Given the description of an element on the screen output the (x, y) to click on. 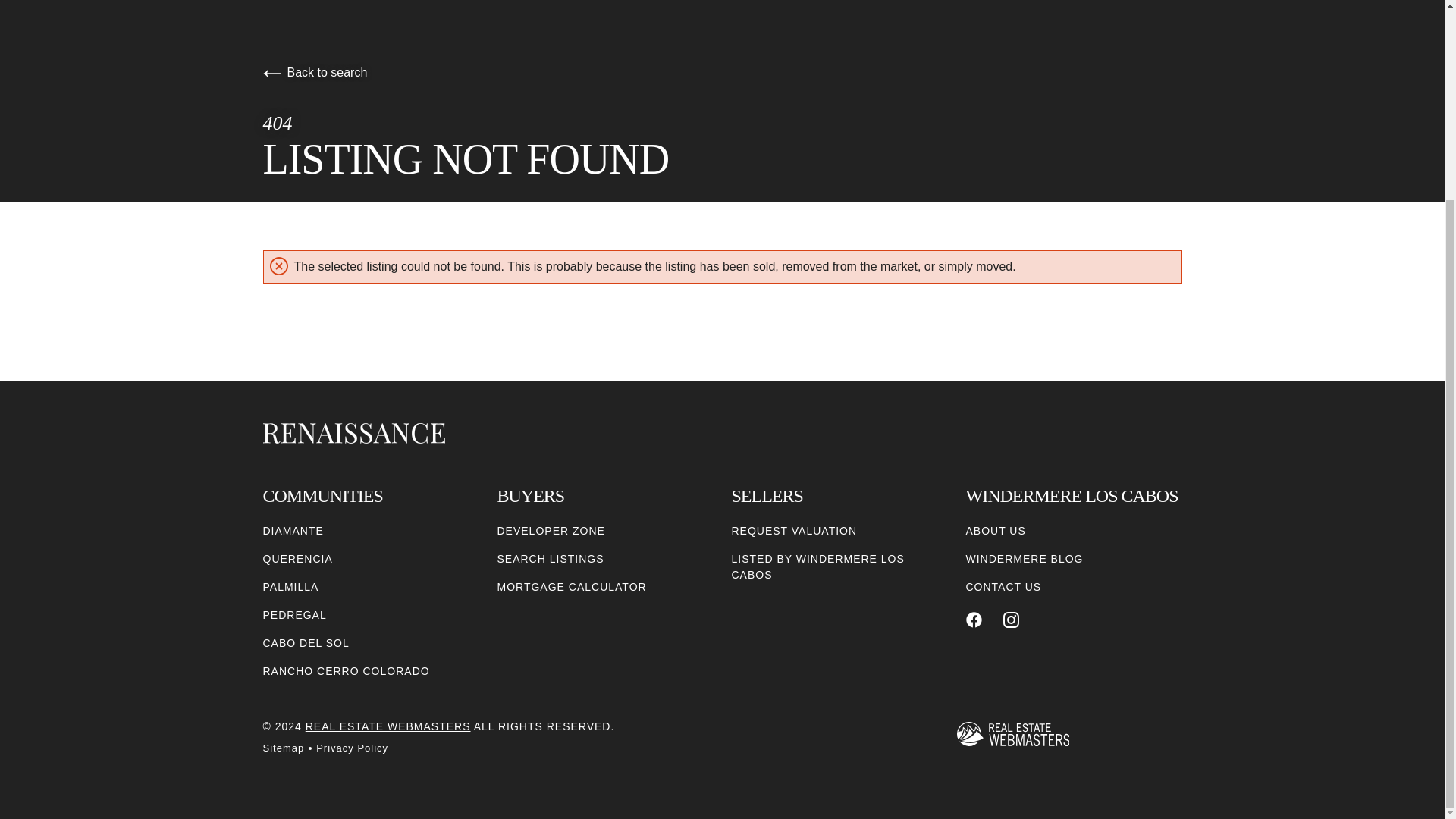
PALMILLA (290, 587)
QUERENCIA (296, 559)
Back to search (314, 72)
FACEBOOK (973, 619)
DIAMANTE (292, 530)
